Given the description of an element on the screen output the (x, y) to click on. 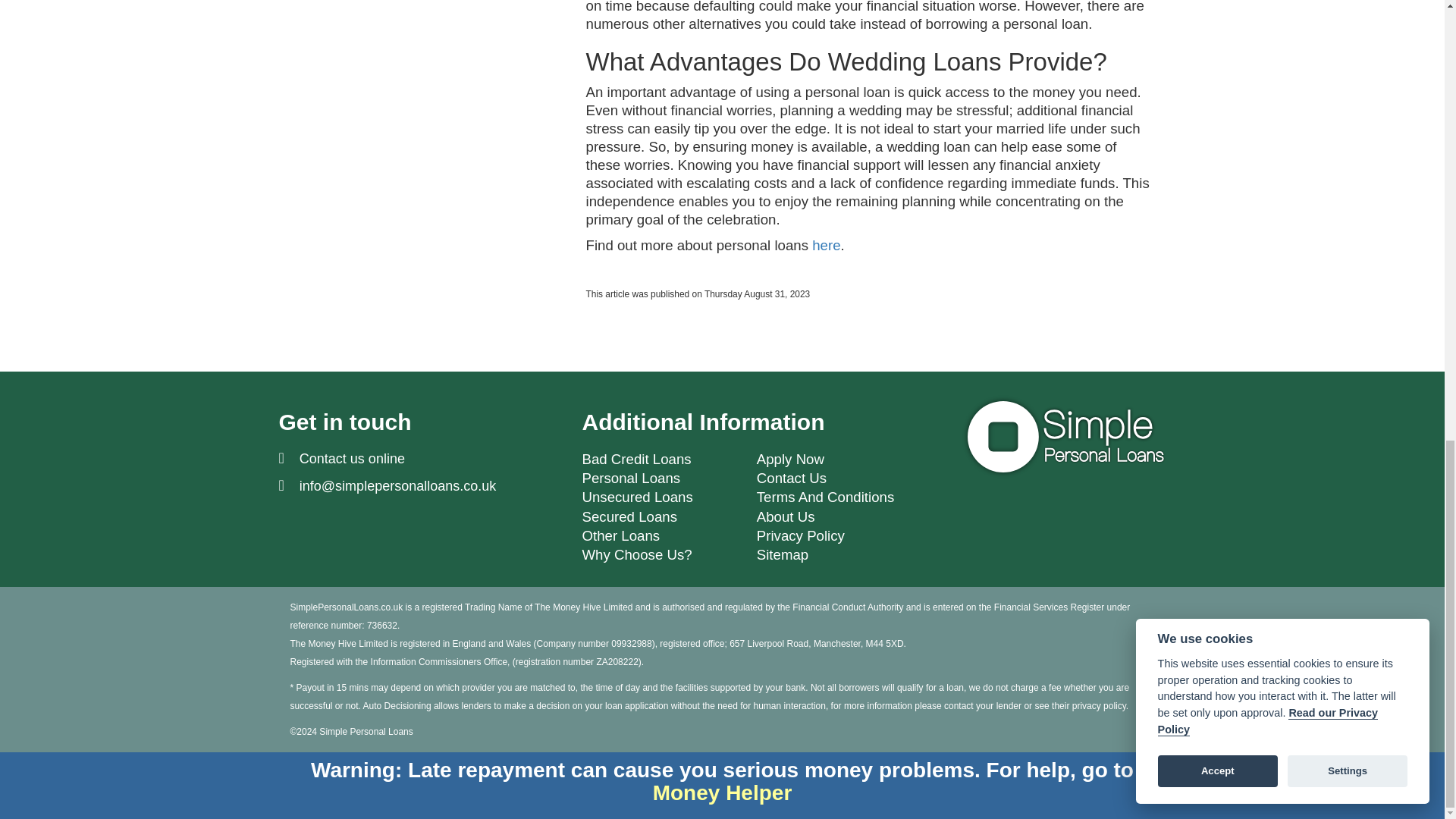
Contact Us (792, 478)
Contact us online (351, 458)
Sitemap (782, 554)
Money Helper (722, 792)
Other Loans (619, 535)
Terms And Conditions (825, 496)
Bad Credit Loans (635, 458)
Privacy Policy (800, 535)
Personal Loans (629, 478)
here (826, 245)
Apply Now (790, 458)
About Us (786, 516)
Simple Personal Loans (1063, 436)
Secured Loans (628, 516)
Unsecured Loans (636, 496)
